Given the description of an element on the screen output the (x, y) to click on. 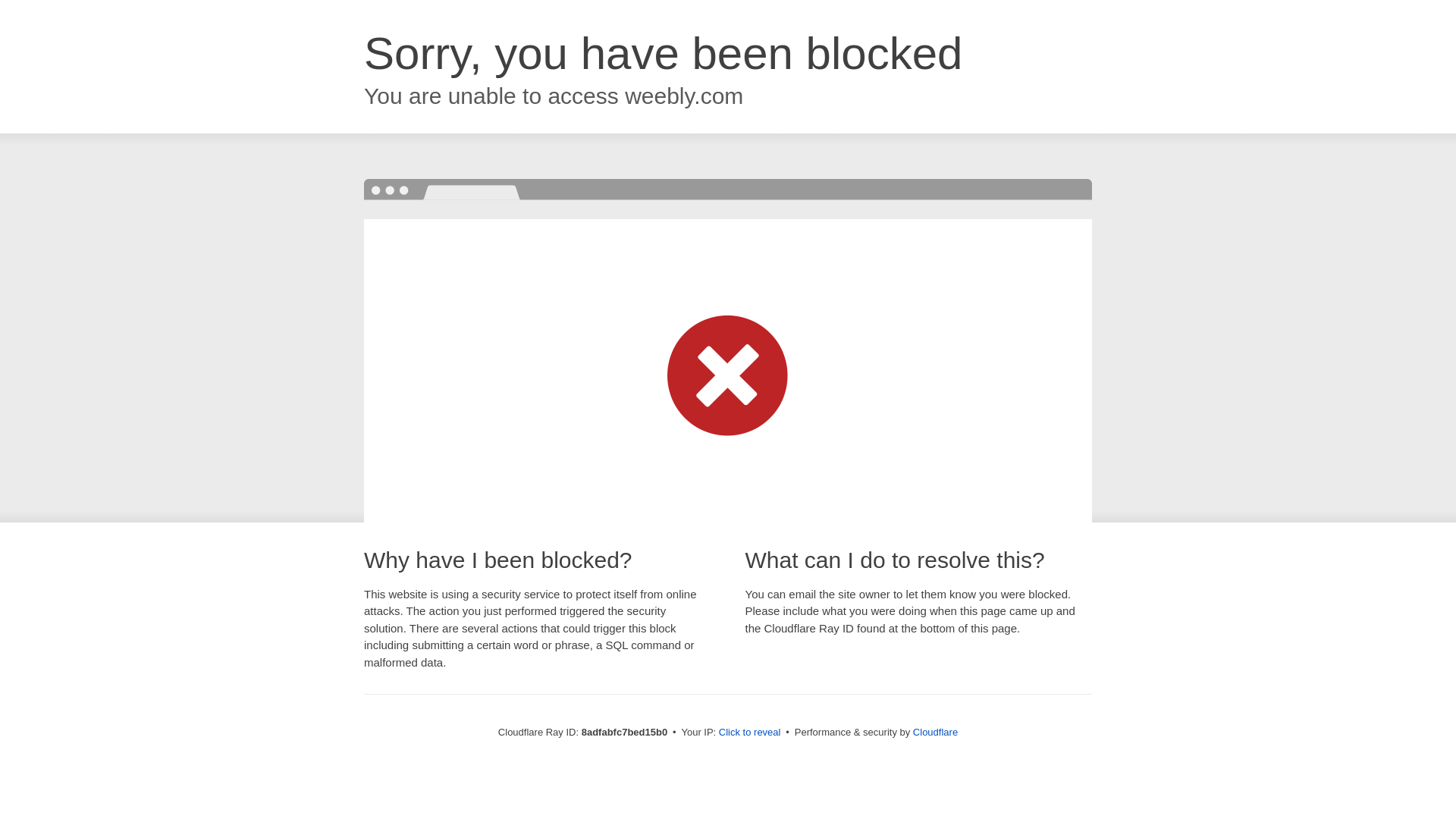
Cloudflare (935, 731)
Click to reveal (749, 732)
